Given the description of an element on the screen output the (x, y) to click on. 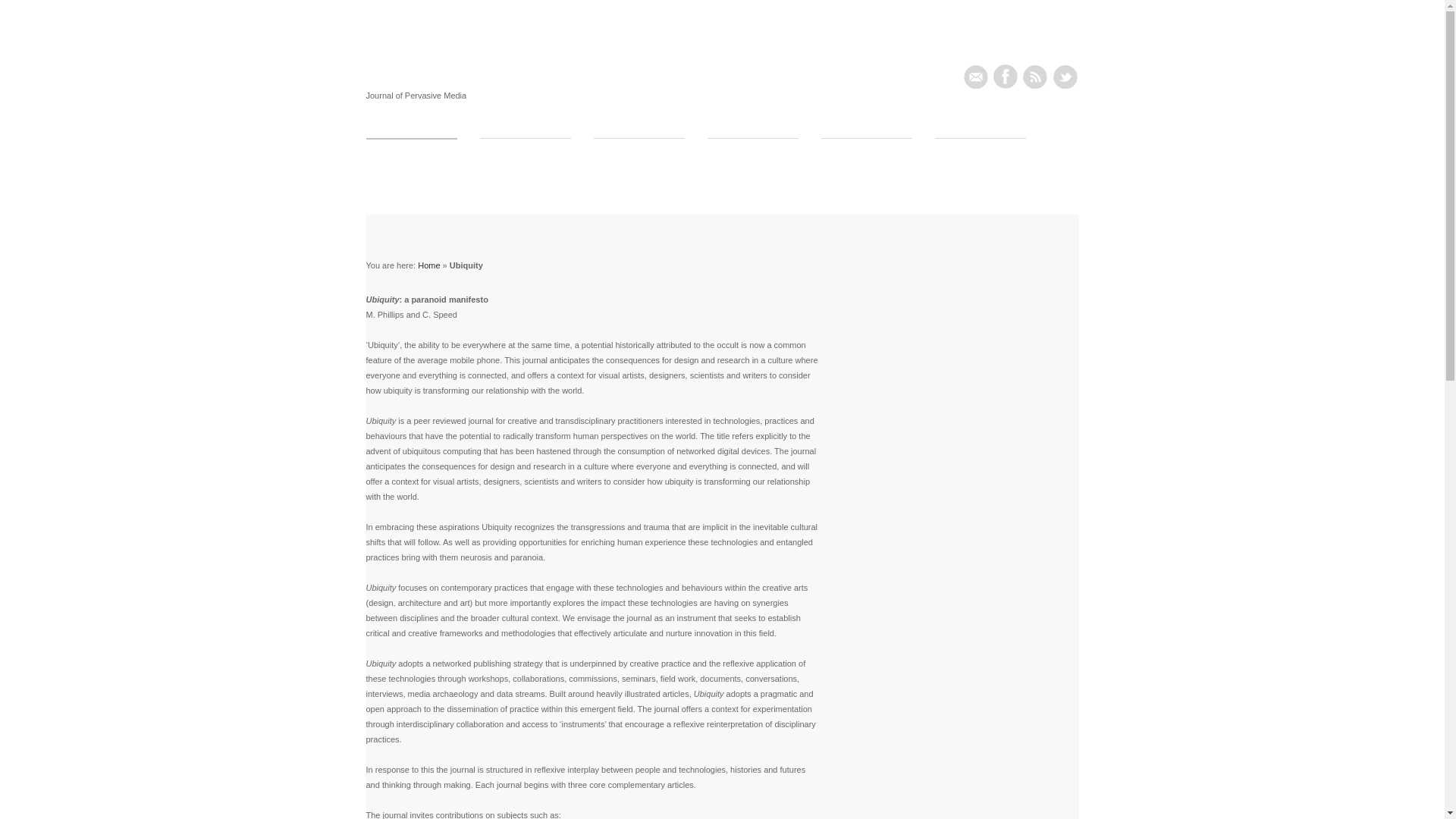
INTERVIEWS (751, 150)
ALEPH (979, 150)
Click for Home (401, 73)
Home (428, 265)
REVIEWS (866, 150)
ARCHAEOLOGY (524, 150)
LABS (638, 150)
UBIQUITY (411, 150)
Ubiquity: (401, 73)
